Given the description of an element on the screen output the (x, y) to click on. 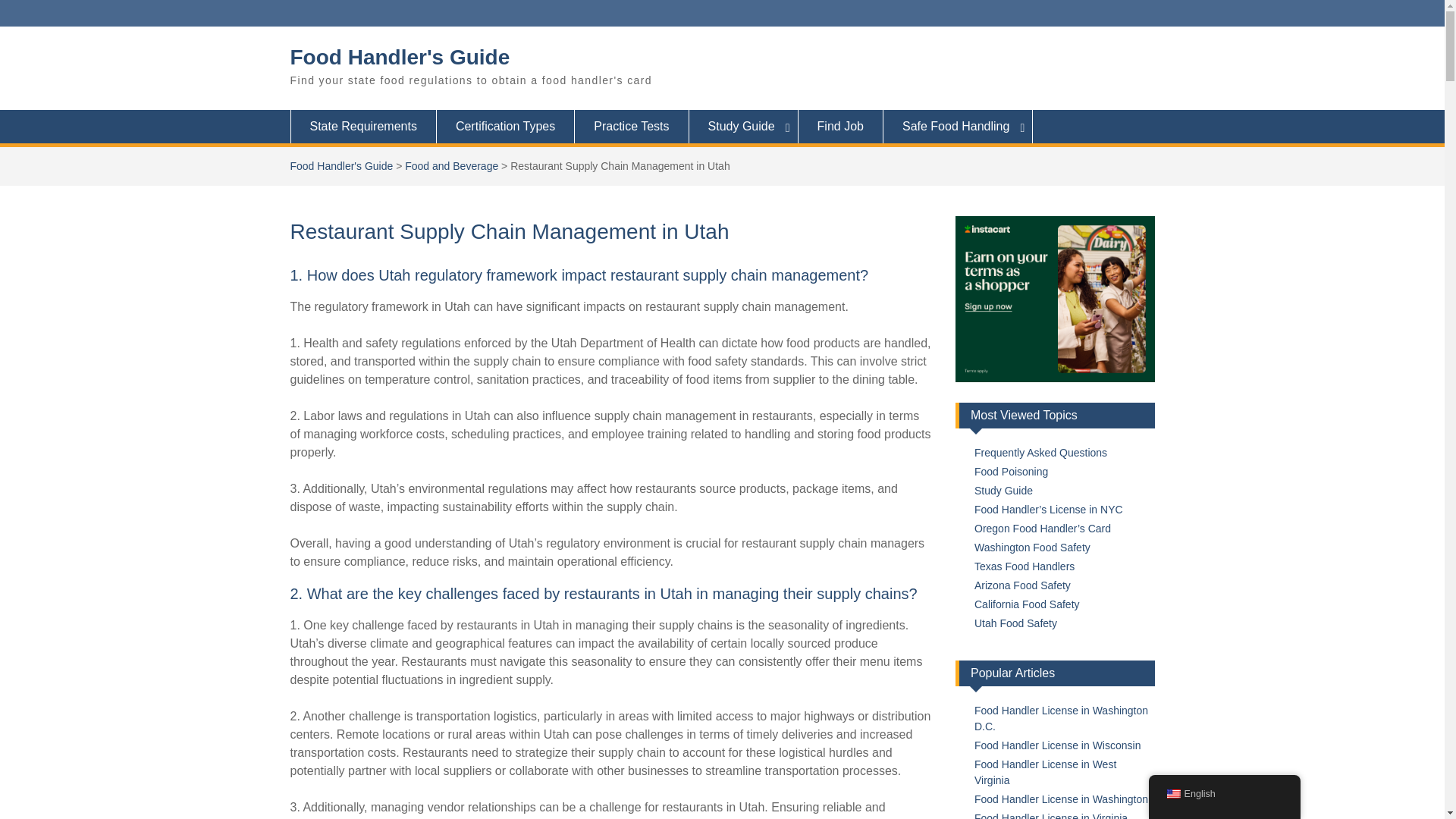
Food and Beverage (450, 165)
Food Handler's Guide (399, 56)
State Requirements (362, 126)
Texas Food Handlers (1024, 566)
Food Poisoning (1011, 471)
Safe Food Handling (957, 126)
Washington Food Safety (1032, 547)
Practice Tests (631, 126)
Certification Types (505, 126)
English (1172, 793)
Arizona Food Safety (1022, 585)
Study Guide (742, 126)
Study Guide (1003, 490)
Food Handler's Guide (341, 165)
Frequently Asked Questions (1040, 452)
